Given the description of an element on the screen output the (x, y) to click on. 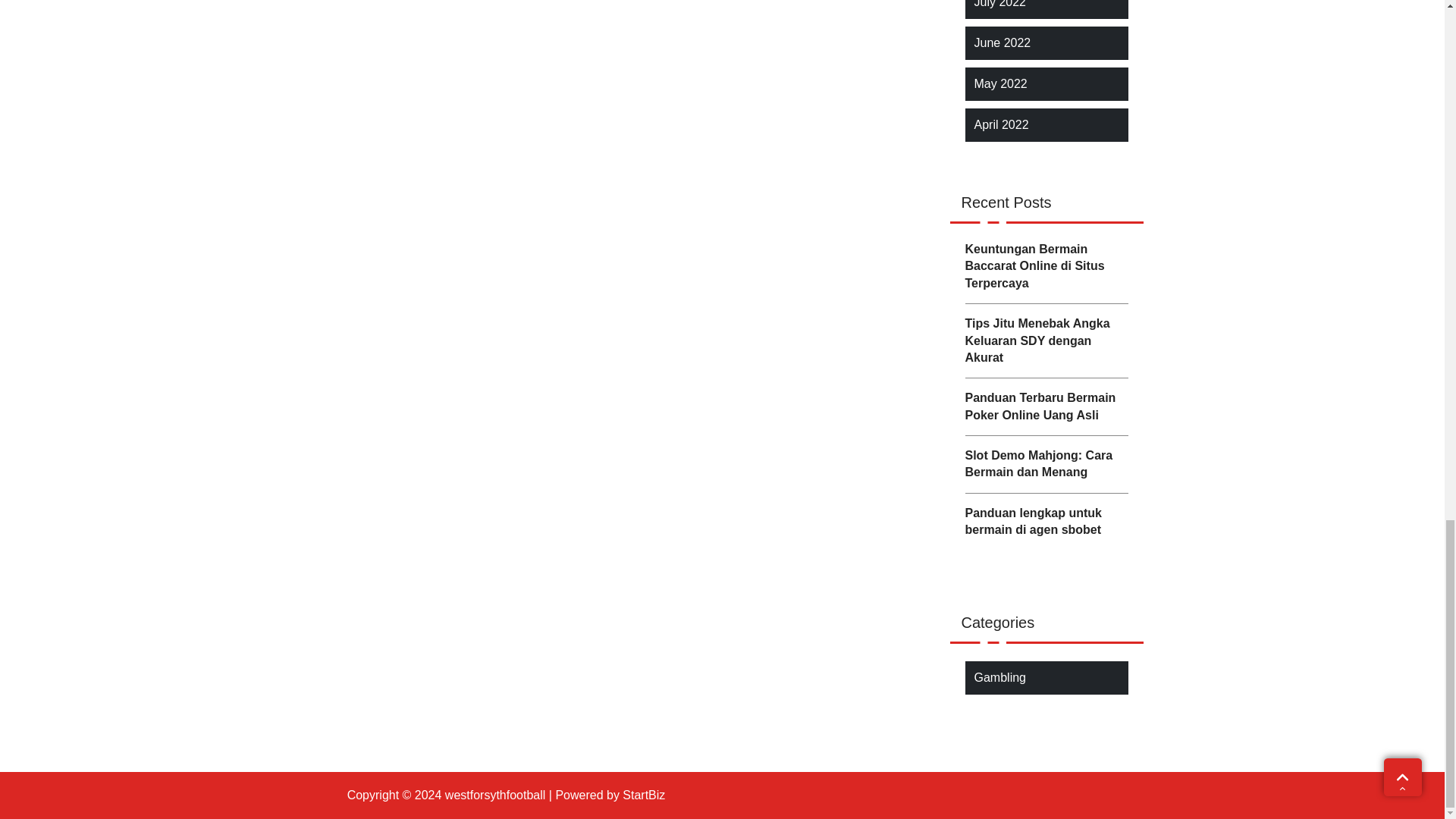
May 2022 (1000, 84)
June 2022 (1002, 43)
April 2022 (1000, 125)
Keuntungan Bermain Baccarat Online di Situs Terpercaya (1044, 265)
July 2022 (1000, 5)
Tips Jitu Menebak Angka Keluaran SDY dengan Akurat (1044, 340)
